Given the description of an element on the screen output the (x, y) to click on. 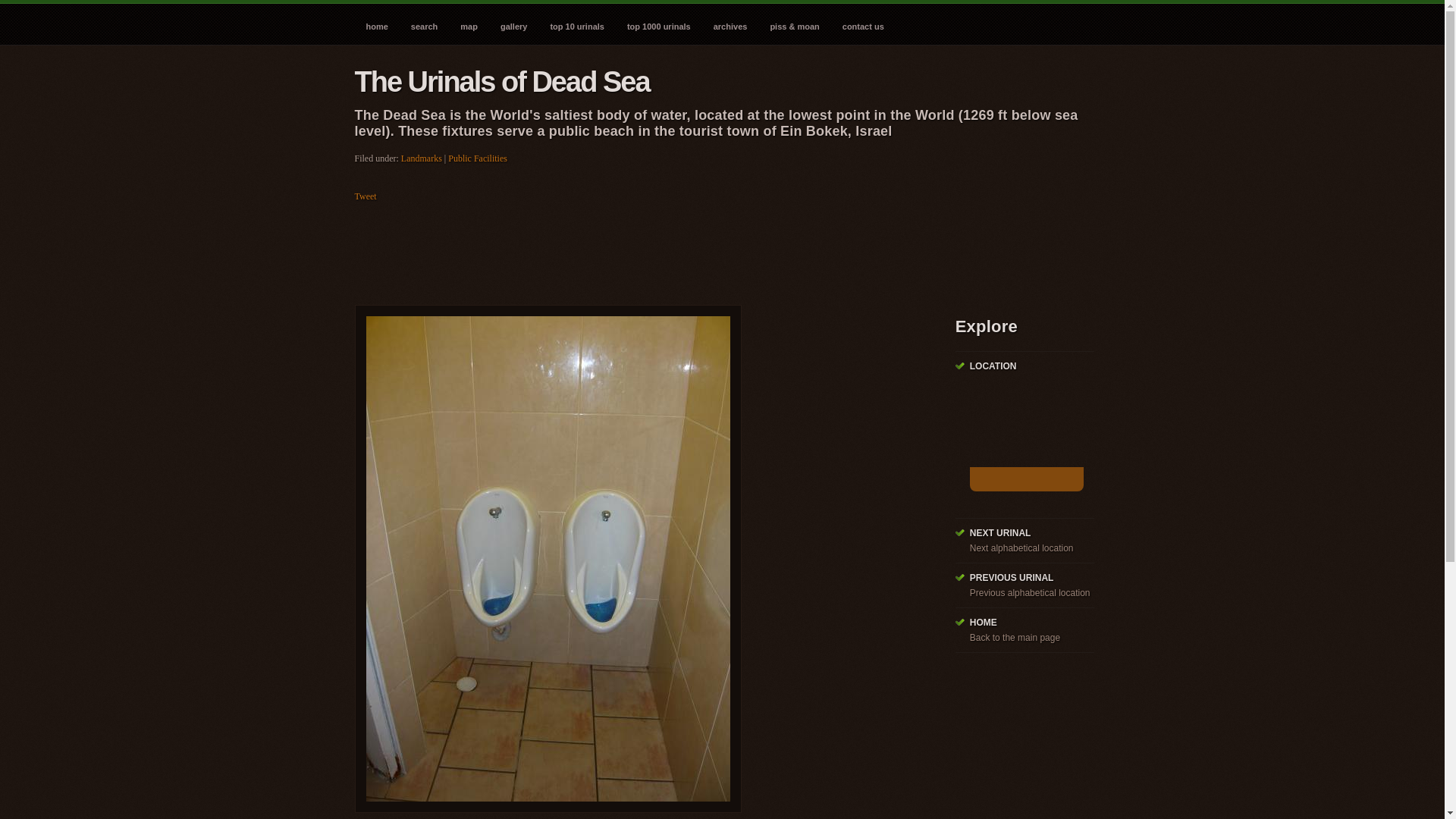
PREVIOUS URINAL (1011, 577)
contact us (863, 22)
Click for map (1026, 478)
Tweet (366, 195)
Landmarks (421, 158)
map (468, 22)
archives (729, 22)
LOCATION (992, 366)
top 10 urinals (576, 22)
Public Facilities (477, 158)
